Given the description of an element on the screen output the (x, y) to click on. 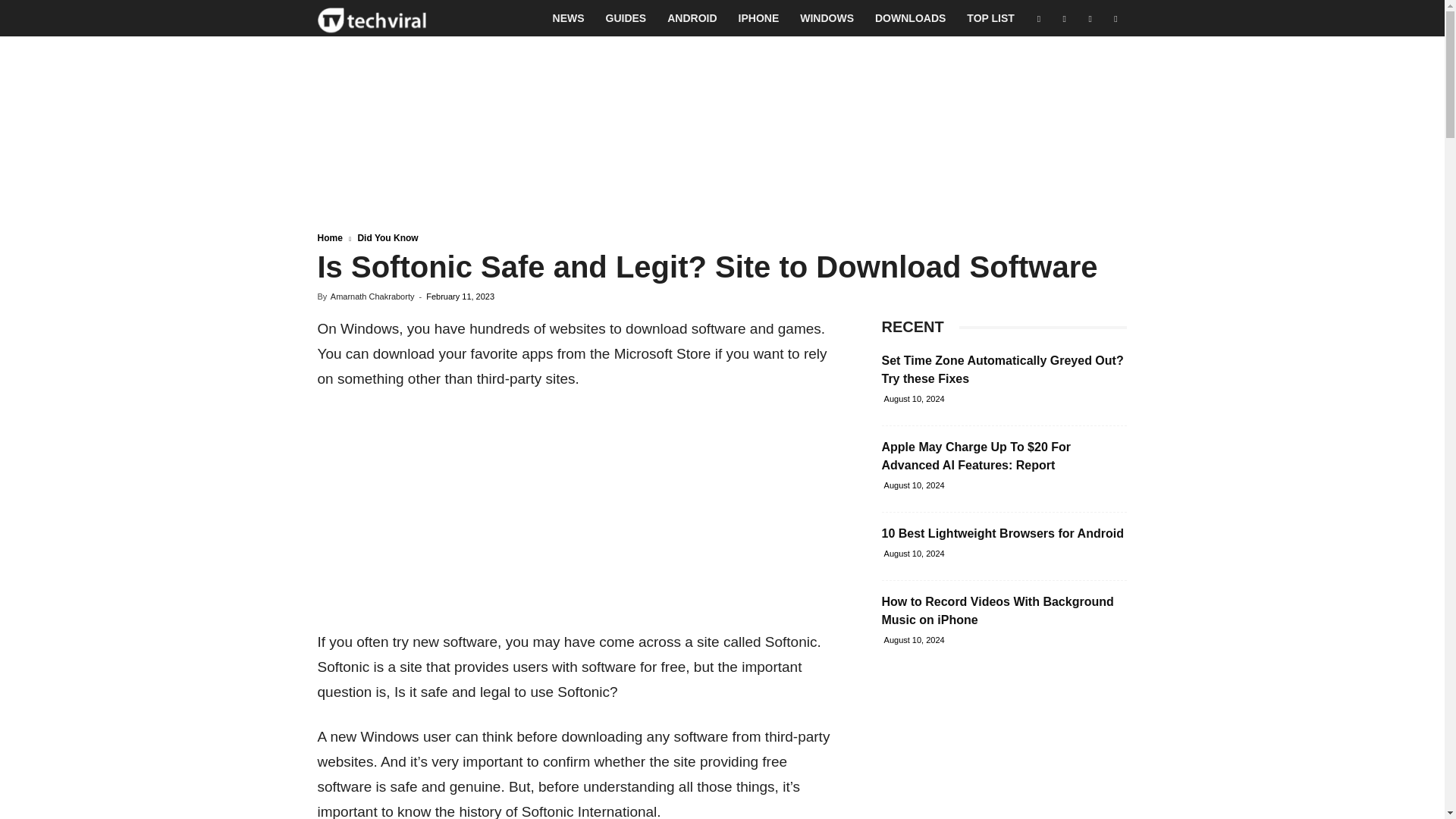
TechViral (371, 18)
GUIDES (626, 18)
WINDOWS (826, 18)
TOP LIST (990, 18)
IPHONE (759, 18)
Tech Viral (371, 18)
ANDROID (691, 18)
Home (329, 237)
DOWNLOADS (910, 18)
NEWS (568, 18)
